Given the description of an element on the screen output the (x, y) to click on. 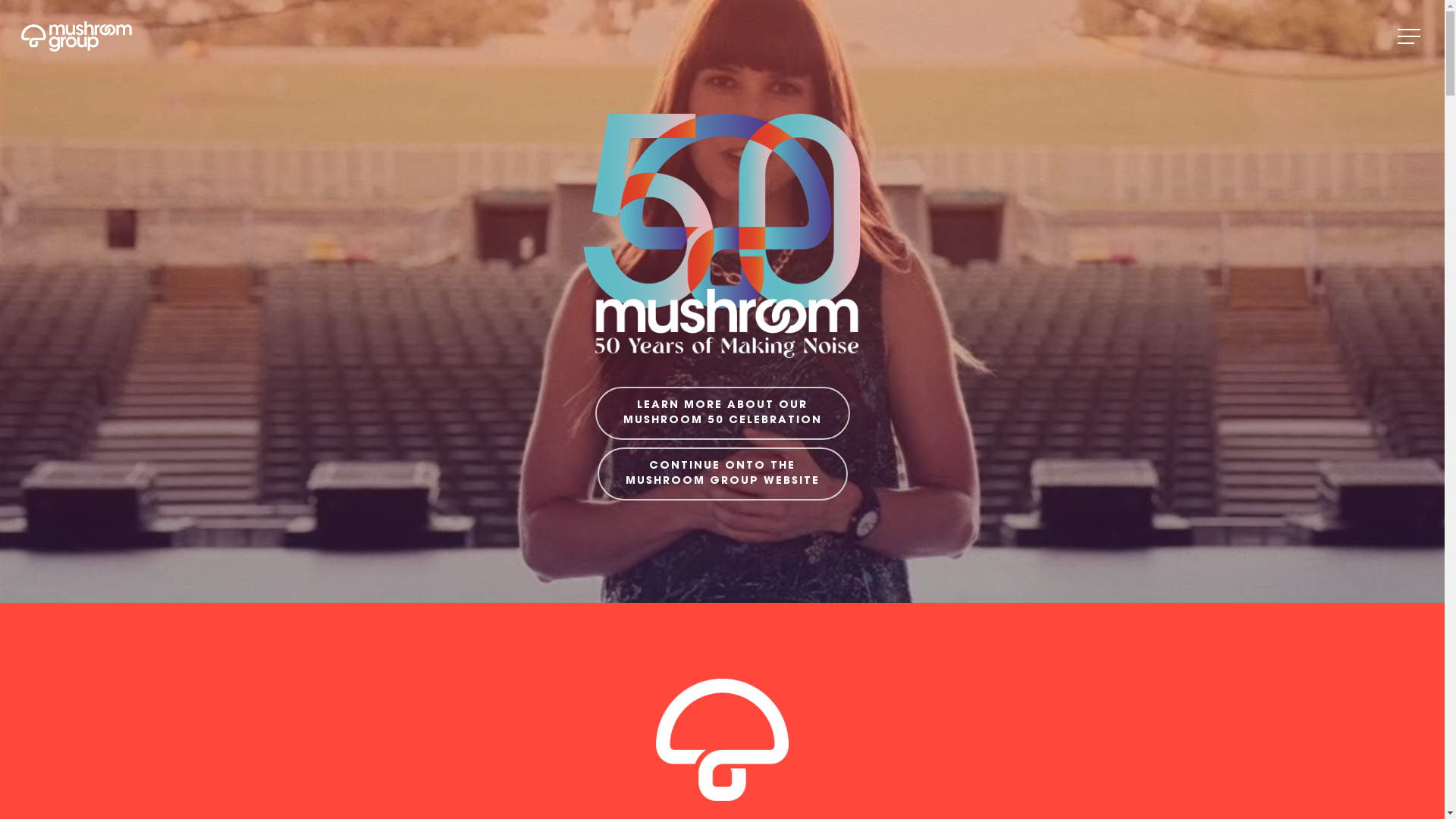
CONTINUE ONTO THE
MUSHROOM GROUP WEBSITE Element type: text (722, 473)
linkedin Element type: text (1097, 793)
LEARN MORE ABOUT OUR
MUSHROOM 50 CELEBRATION Element type: text (721, 412)
facebook Element type: text (1041, 793)
instagram Element type: text (1157, 793)
tiktok Element type: text (1186, 793)
youtube Element type: text (1127, 793)
twitter Element type: text (1067, 793)
Menu Element type: text (1410, 36)
PRIVACY POLICY Element type: text (398, 795)
